Given the description of an element on the screen output the (x, y) to click on. 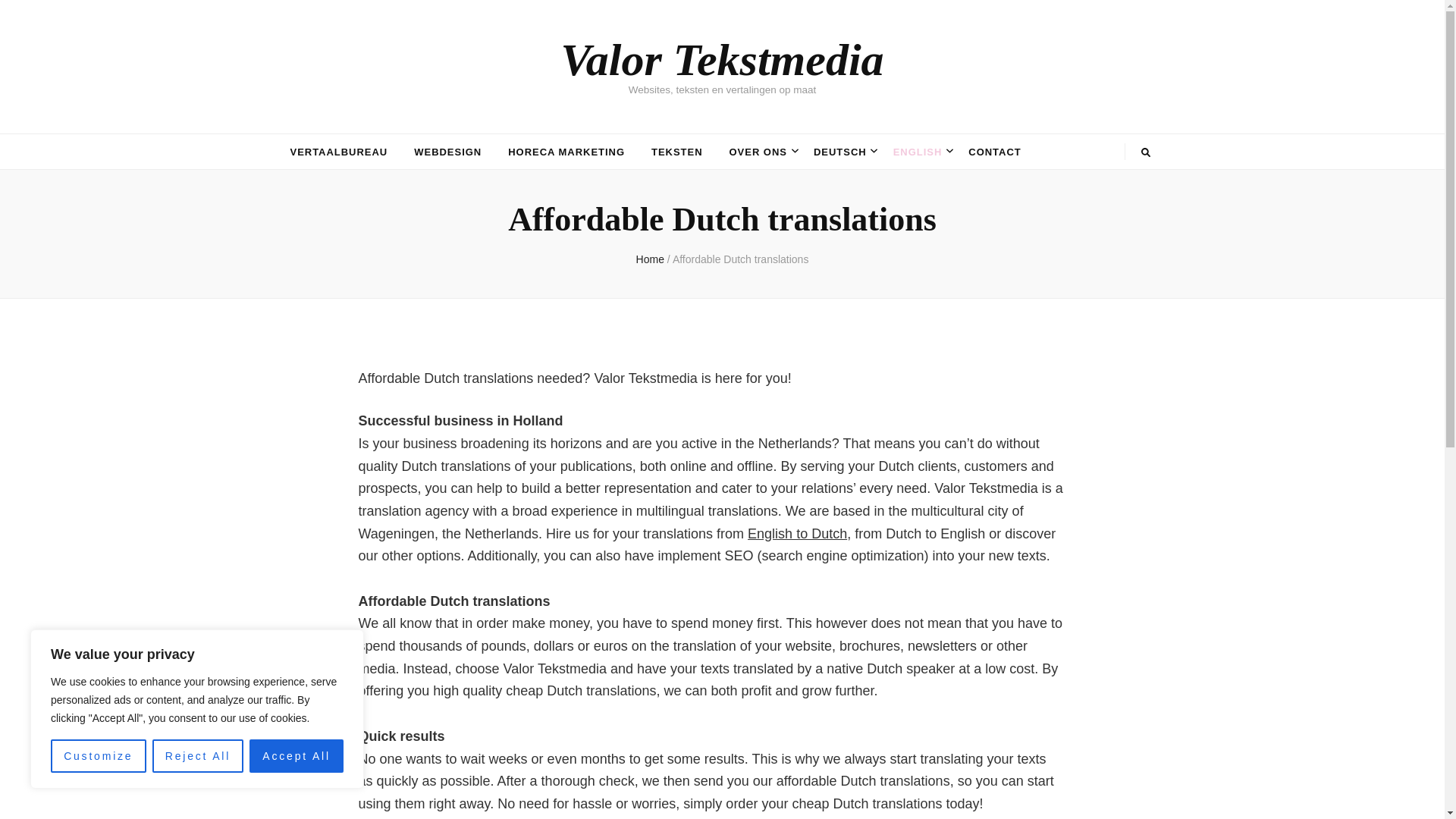
ENGLISH (917, 151)
OVER ONS (758, 151)
DEUTSCH (839, 151)
VERTAALBUREAU (338, 151)
HORECA MARKETING (566, 151)
Customize (98, 756)
WEBDESIGN (447, 151)
Valor Tekstmedia (721, 60)
Accept All (295, 756)
Reject All (198, 756)
TEKSTEN (676, 151)
